Given the description of an element on the screen output the (x, y) to click on. 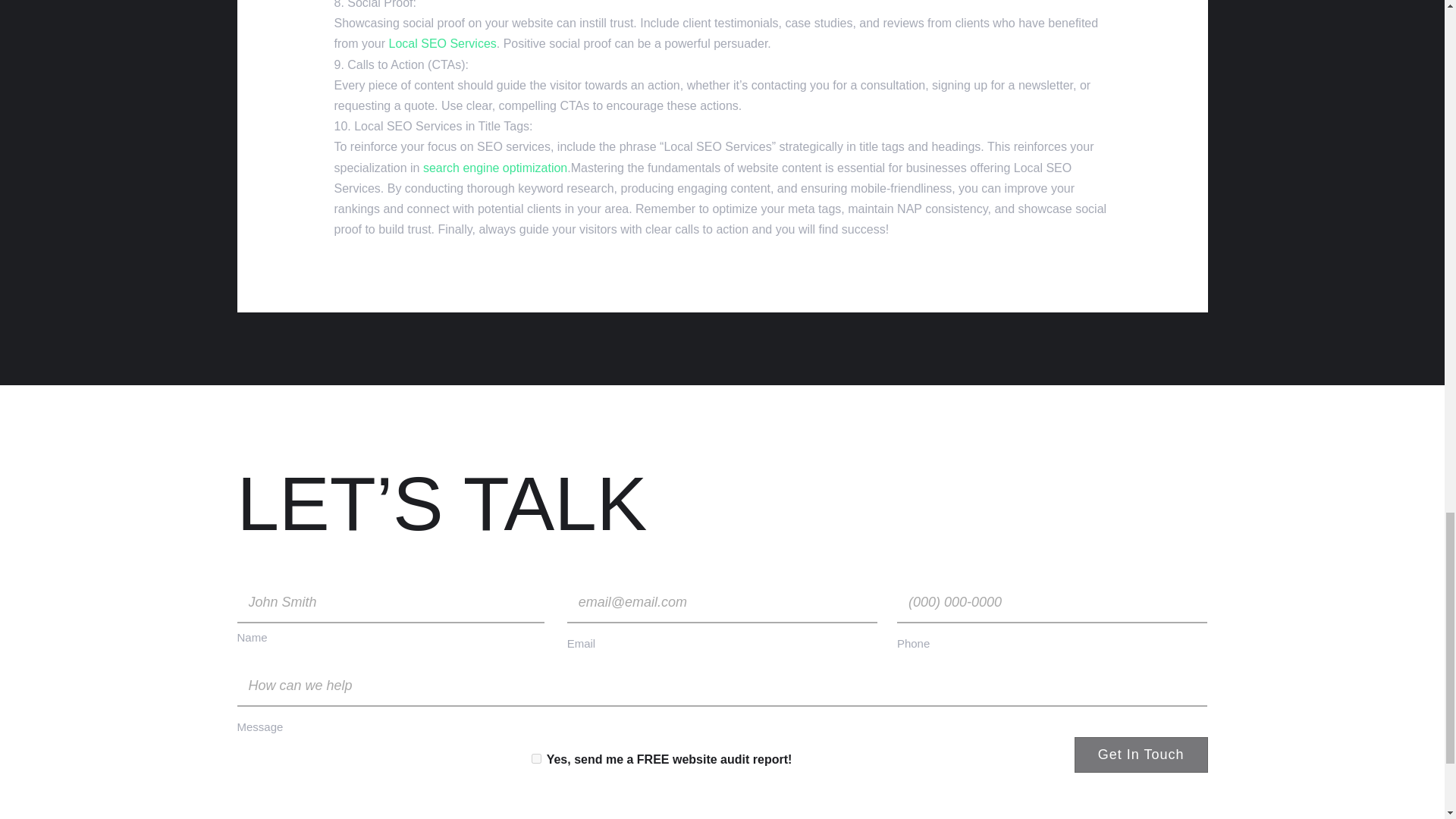
Get in touch (1141, 755)
Local SEO Services (442, 42)
Get in touch (1141, 755)
search engine optimization (495, 167)
1 (535, 758)
